Given the description of an element on the screen output the (x, y) to click on. 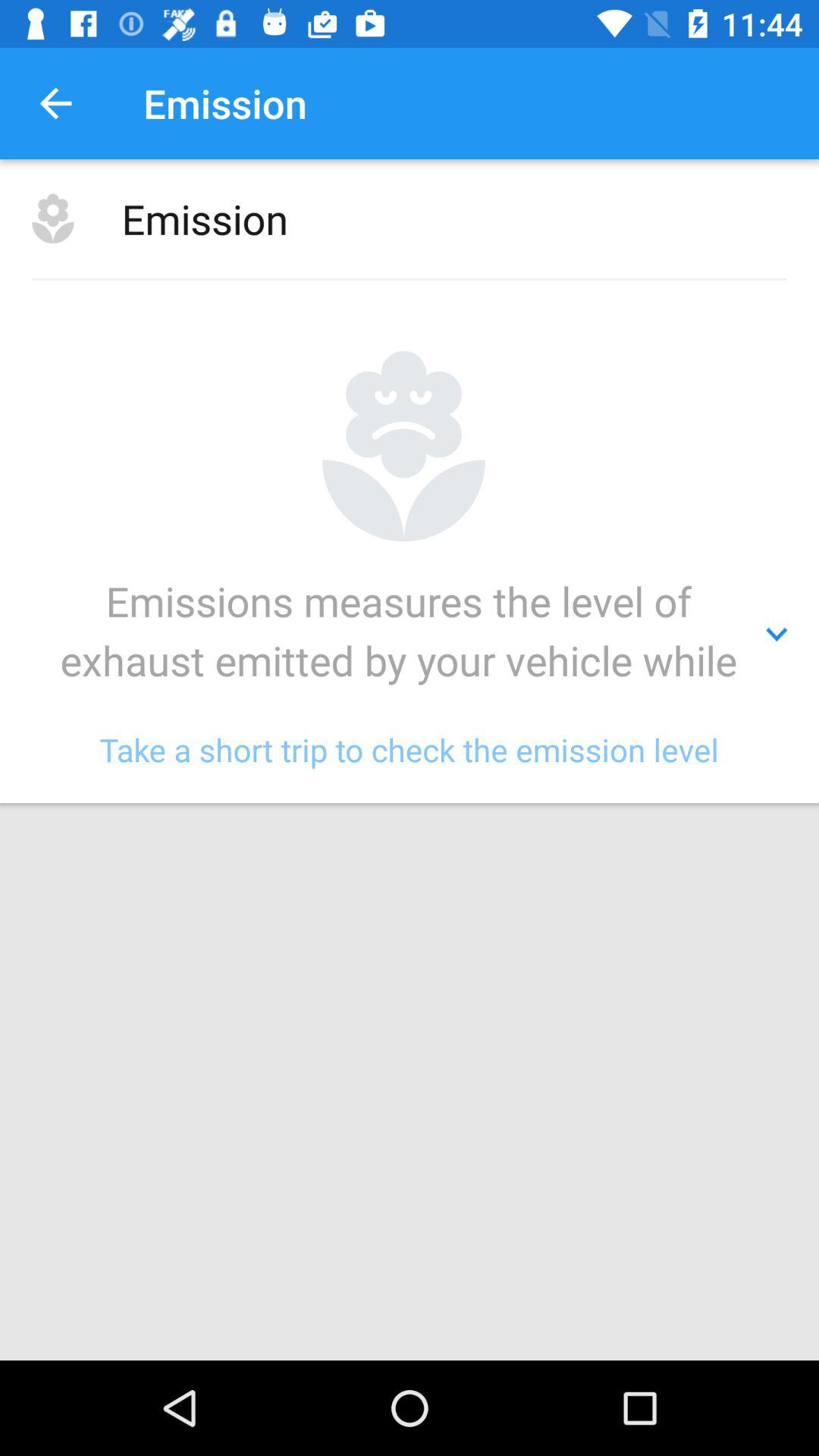
turn on emissions measures the item (409, 634)
